Given the description of an element on the screen output the (x, y) to click on. 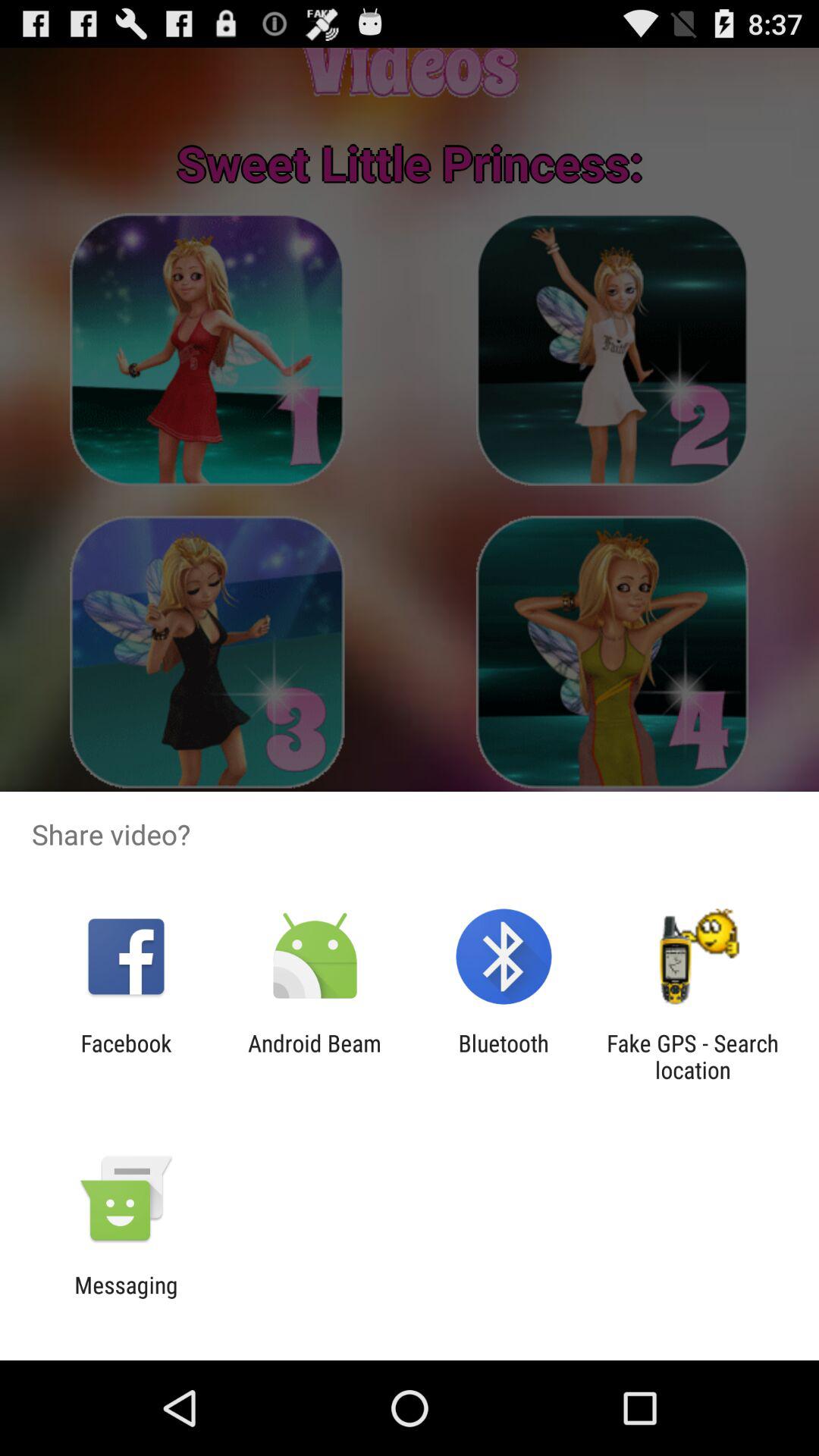
tap item at the bottom right corner (692, 1056)
